Given the description of an element on the screen output the (x, y) to click on. 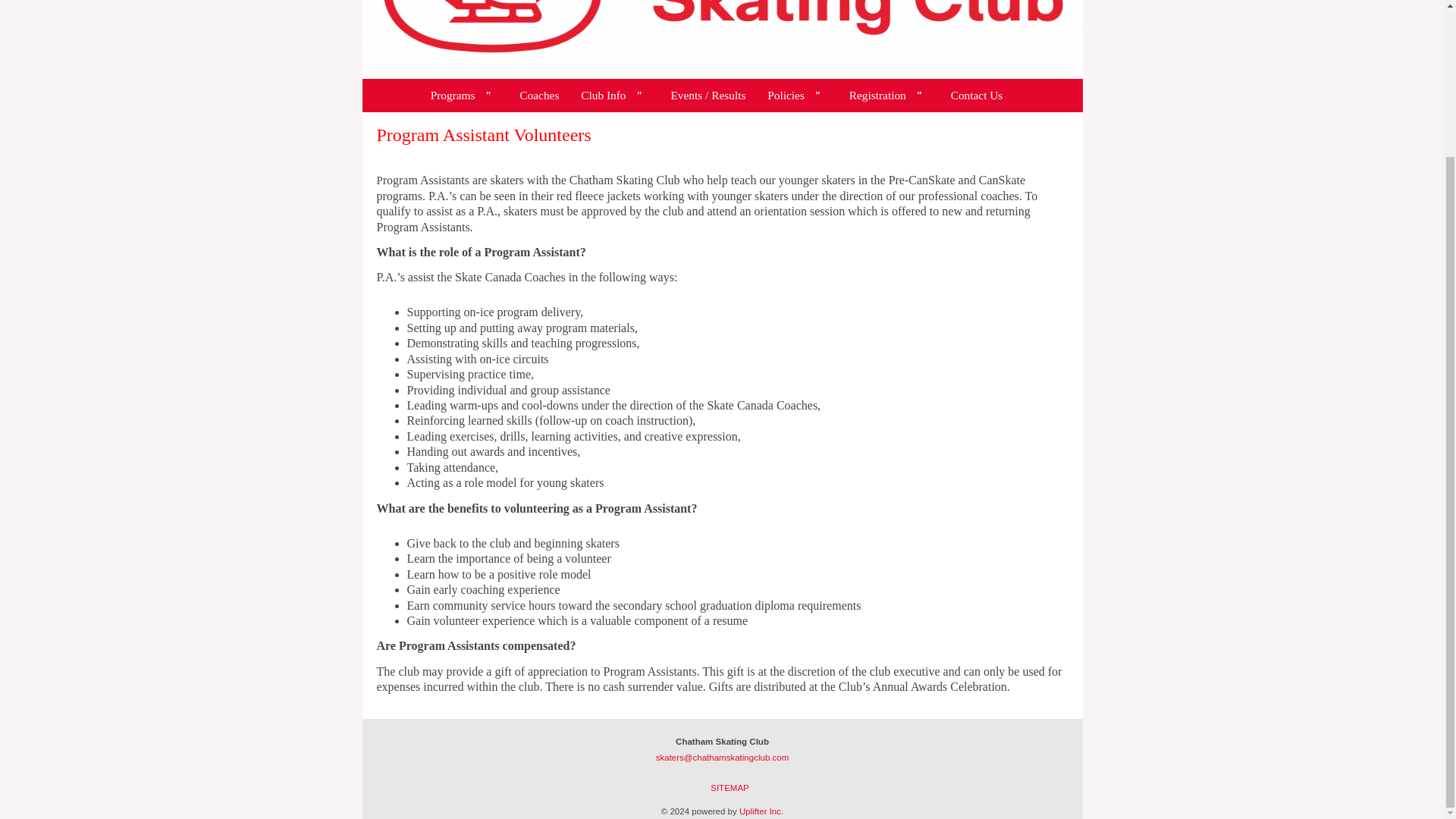
Club Info (614, 95)
Coaches (538, 95)
Registration (889, 95)
Programs (464, 95)
Policies (796, 95)
Chatham Skating Club powered by Uplifter (722, 39)
Coaches (538, 95)
SITEMAP (729, 787)
Contact Us (977, 95)
Policies (796, 95)
Club Info (614, 95)
Uplifter Inc. (761, 810)
Programs (464, 95)
